Given the description of an element on the screen output the (x, y) to click on. 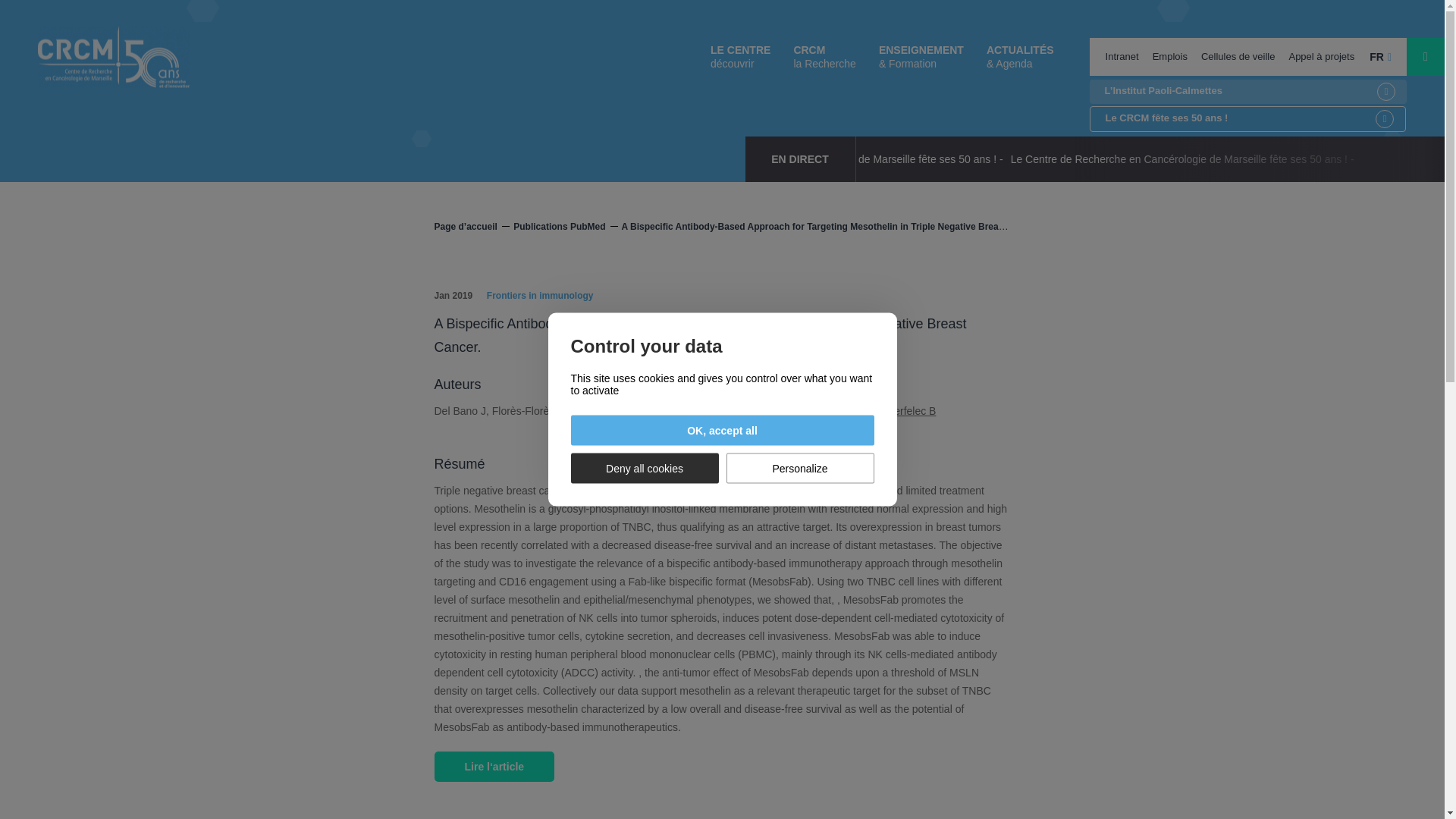
Emplois (1169, 56)
Castellano R (759, 410)
FR (1380, 56)
Goubard A (651, 410)
Intranet (1122, 56)
Publications PubMed (565, 226)
Josselin E (595, 410)
Langue du site (1380, 56)
Cellules de veille (1237, 56)
